Given the description of an element on the screen output the (x, y) to click on. 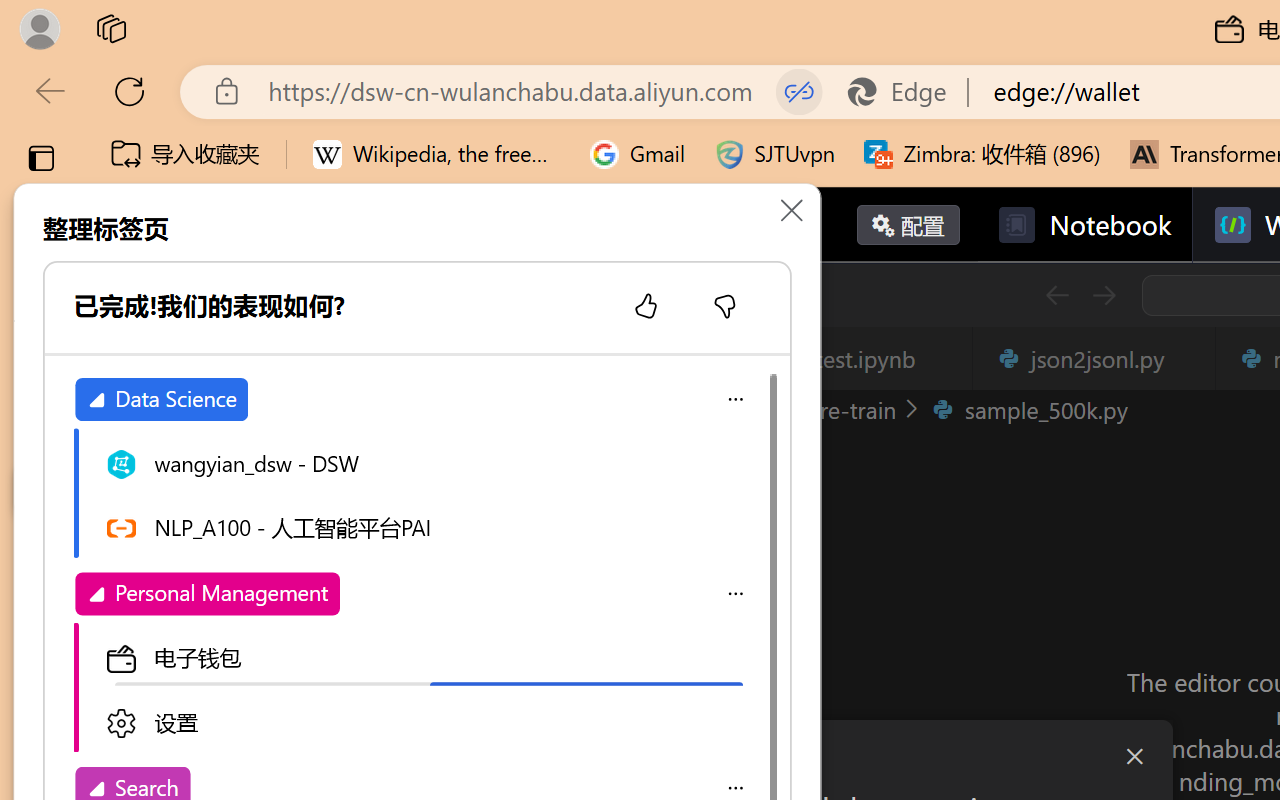
Edge (905, 91)
Notebook (1083, 225)
json2jsonl.py (1092, 358)
Go Back (Alt+LeftArrow) (1055, 295)
